Given the description of an element on the screen output the (x, y) to click on. 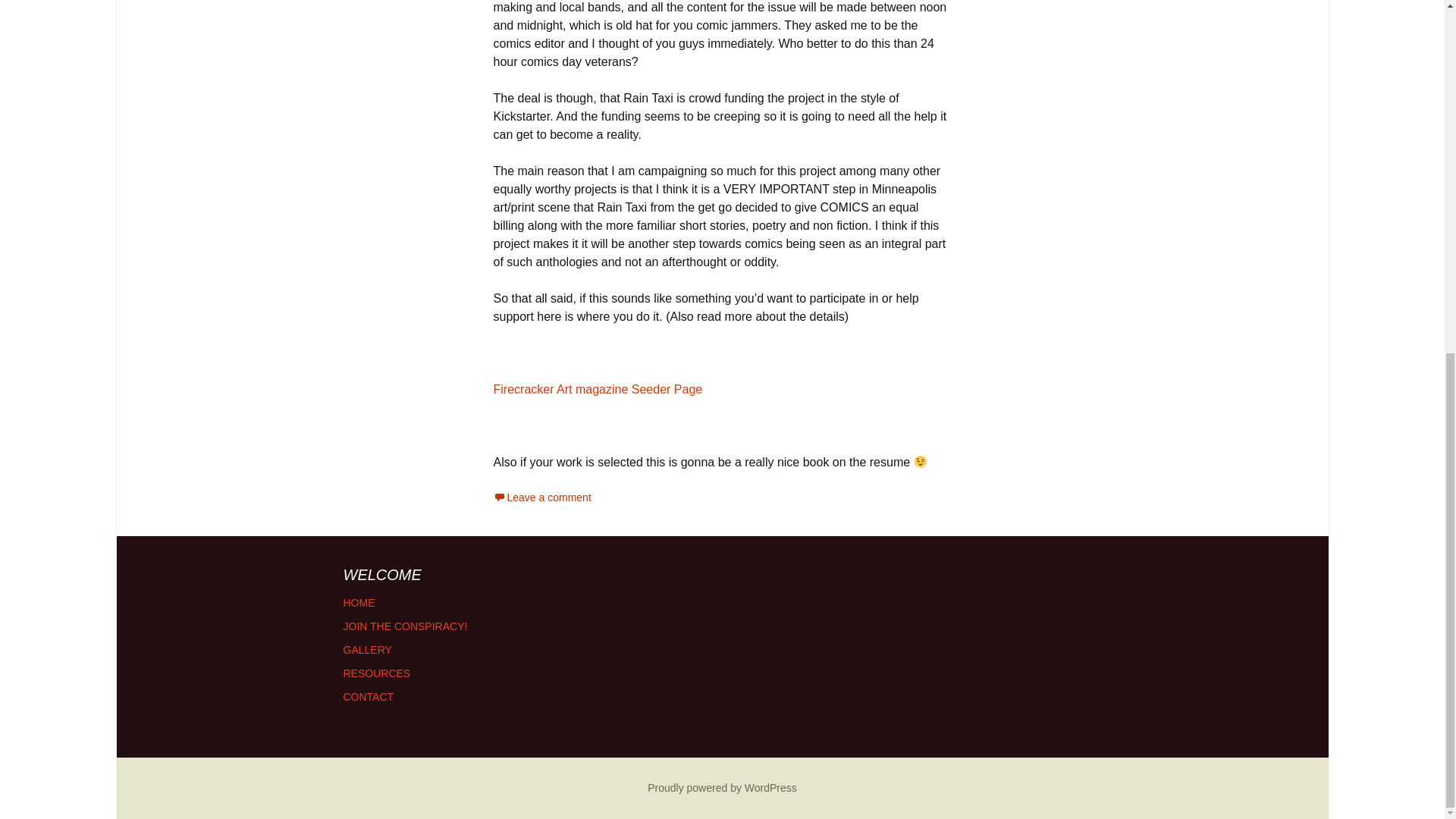
Firecracker Art magazine Seeder Page (597, 389)
HOME (358, 603)
JOIN THE CONSPIRACY! (404, 625)
Leave a comment (542, 497)
GALLERY (366, 649)
RESOURCES (376, 673)
